Given the description of an element on the screen output the (x, y) to click on. 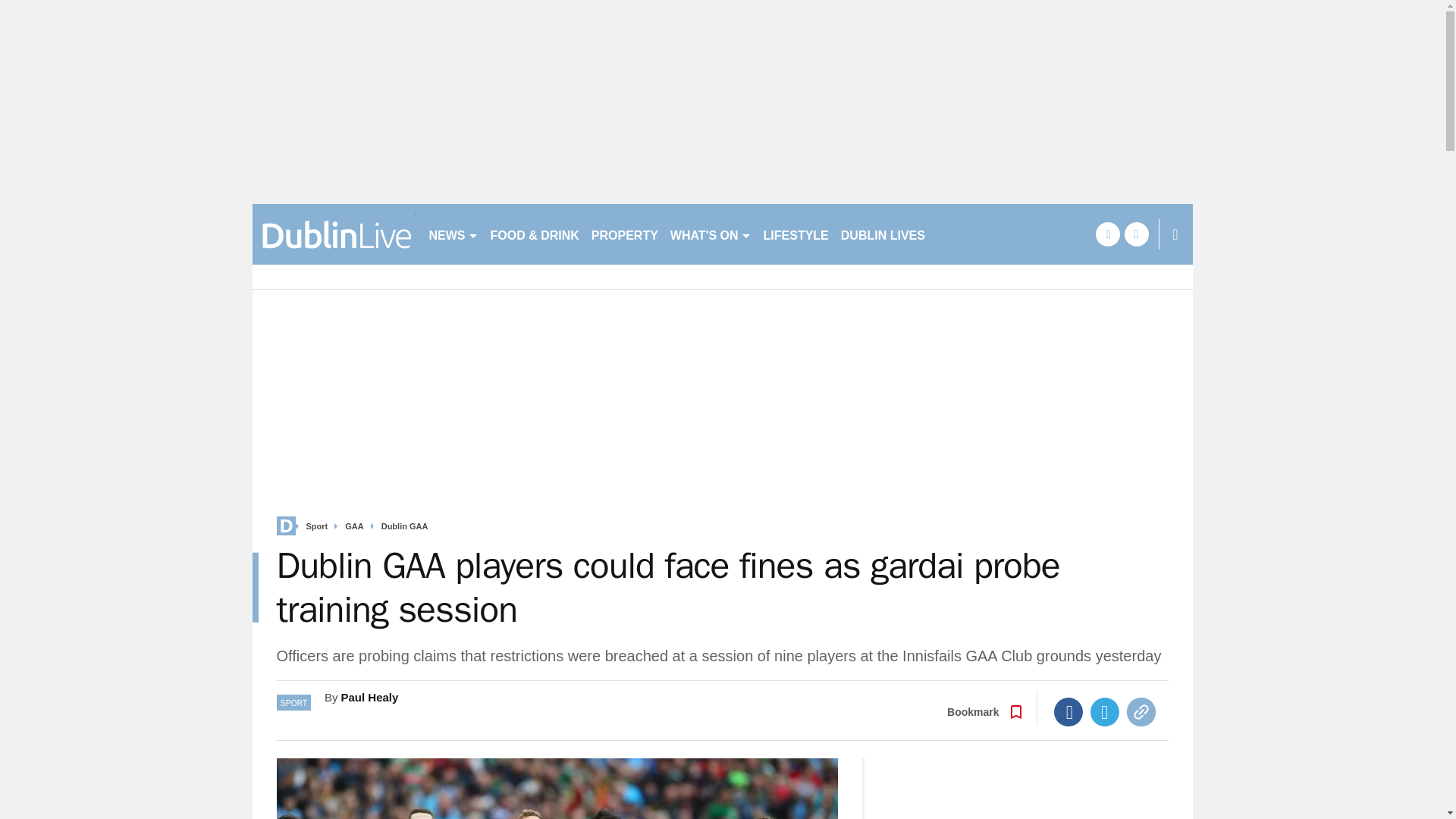
LIFESTYLE (795, 233)
Facebook (1068, 711)
PROPERTY (624, 233)
DUBLIN LIVES (882, 233)
SOCCER (962, 233)
twitter (1136, 233)
dublinlive (332, 233)
NEWS (453, 233)
WHAT'S ON (710, 233)
facebook (1106, 233)
Twitter (1104, 711)
